Given the description of an element on the screen output the (x, y) to click on. 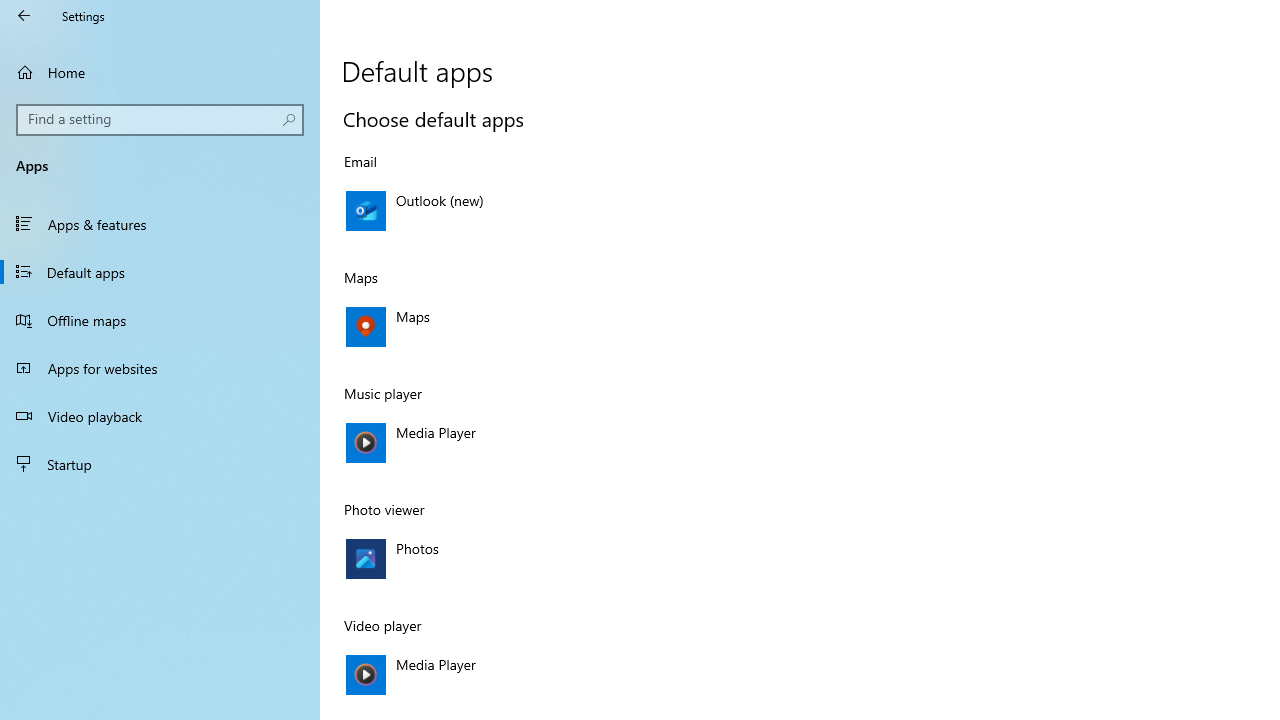
Email, Outlook (new) (554, 211)
Apps & features (160, 223)
Search box, Find a setting (160, 119)
Maps, Maps (554, 327)
Startup (160, 463)
Apps for websites (160, 367)
Back (24, 15)
Music player, Media Player (554, 443)
Default apps (160, 271)
Video player, Media Player (554, 674)
Offline maps (160, 319)
Photo viewer, Photos (554, 559)
Video playback (160, 415)
Home (160, 71)
